Given the description of an element on the screen output the (x, y) to click on. 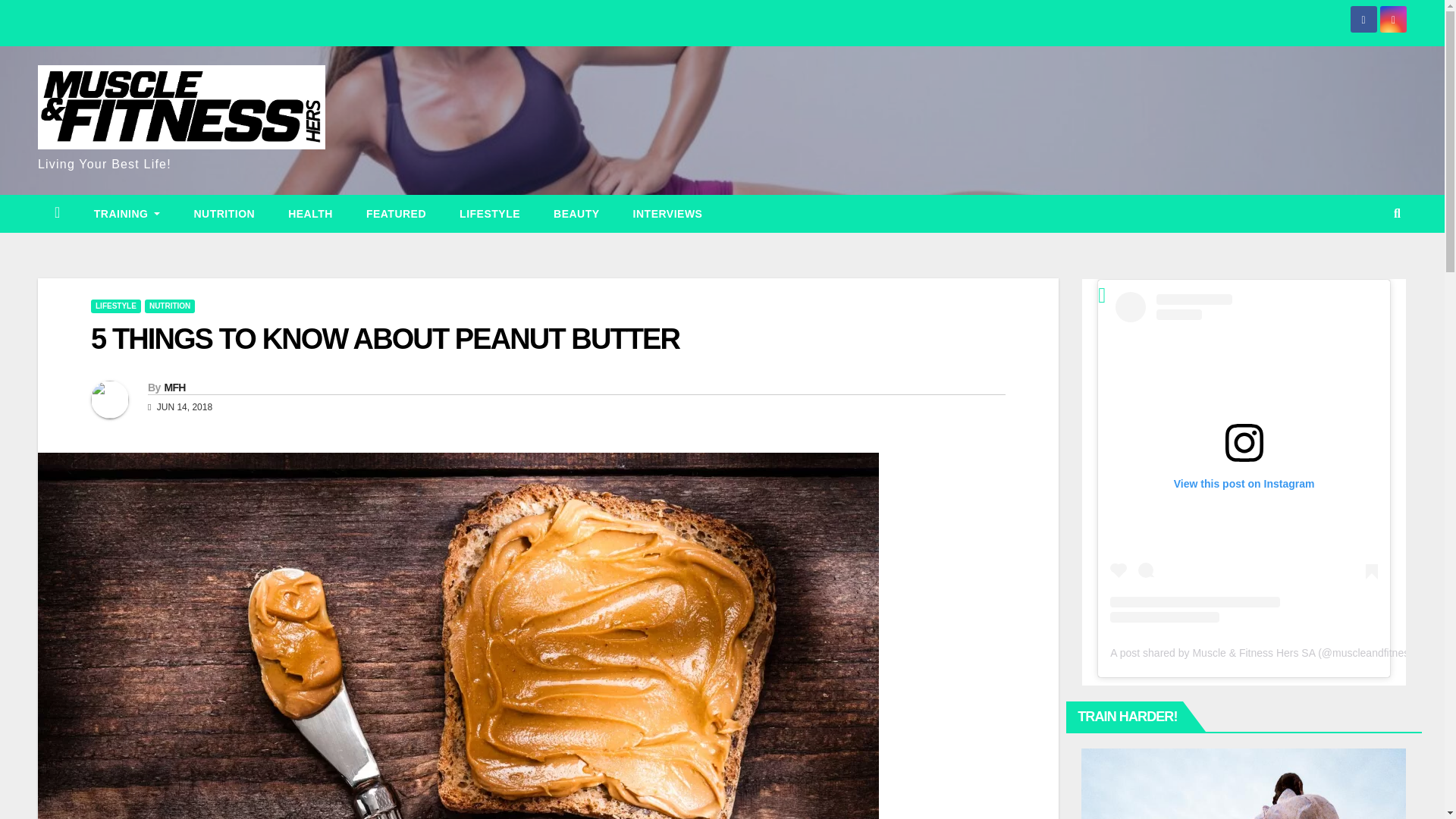
5 THINGS TO KNOW ABOUT PEANUT BUTTER (384, 338)
Featured (395, 213)
Interviews (667, 213)
Beauty (576, 213)
TRAINING (127, 213)
LIFESTYLE (489, 213)
INTERVIEWS (667, 213)
Permalink to: 5 THINGS TO KNOW ABOUT PEANUT BUTTER (384, 338)
Nutrition (223, 213)
MFH (173, 387)
FEATURED (395, 213)
Training (127, 213)
NUTRITION (169, 305)
HEALTH (309, 213)
Health (309, 213)
